Given the description of an element on the screen output the (x, y) to click on. 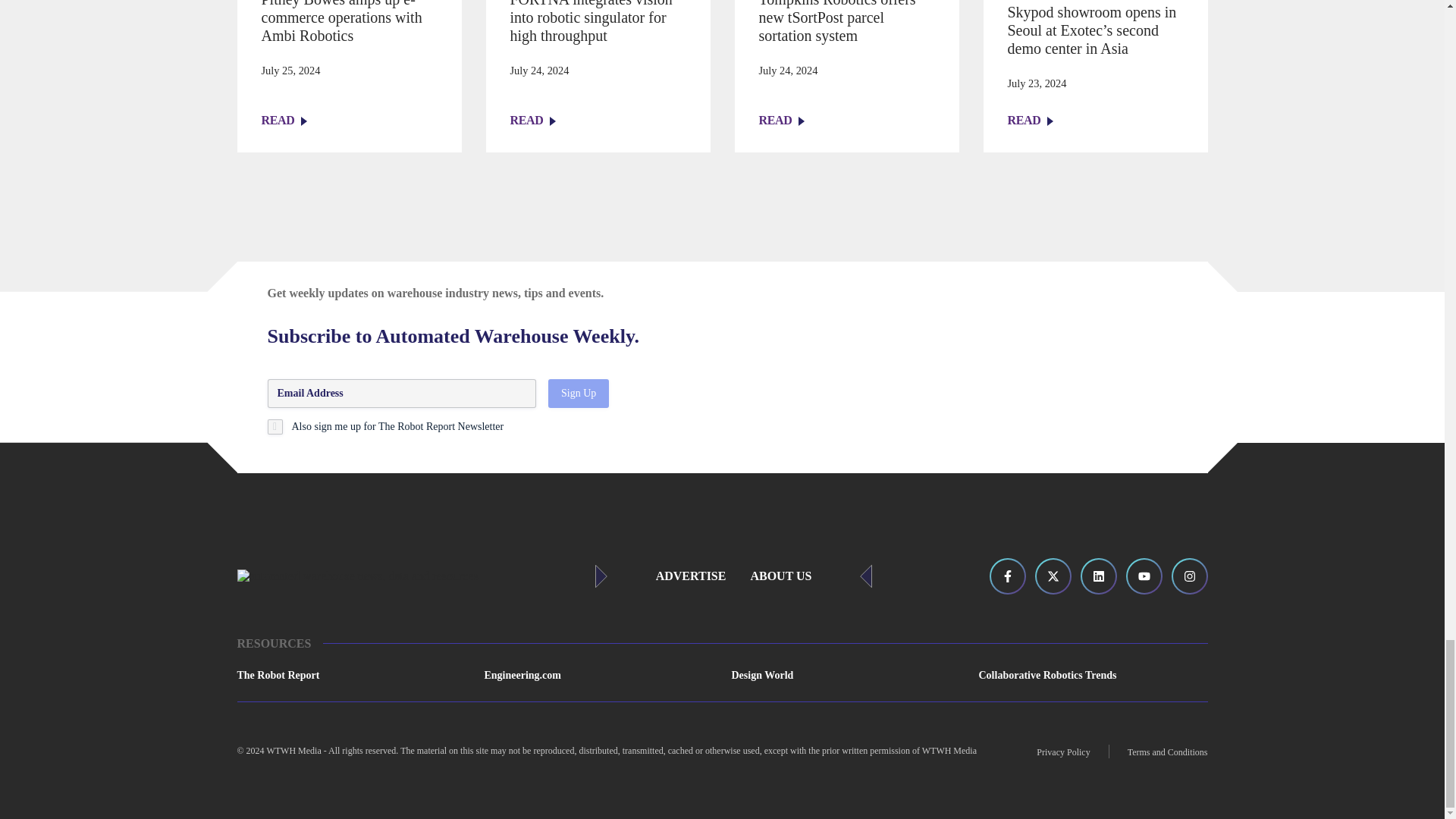
Y (274, 426)
